Given the description of an element on the screen output the (x, y) to click on. 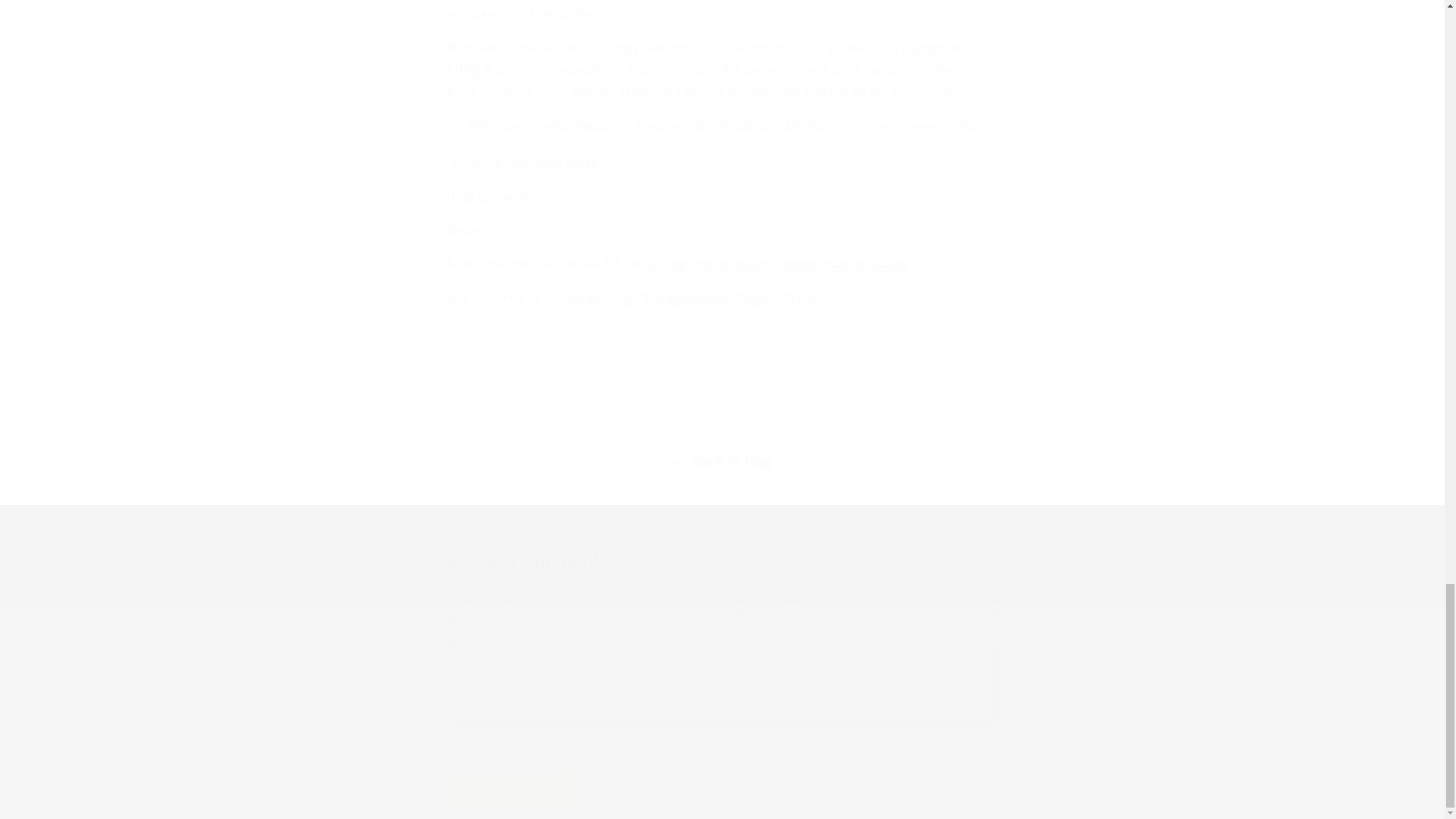
Post comment (510, 788)
Post comment (510, 788)
Patreon for FREE (707, 58)
